Given the description of an element on the screen output the (x, y) to click on. 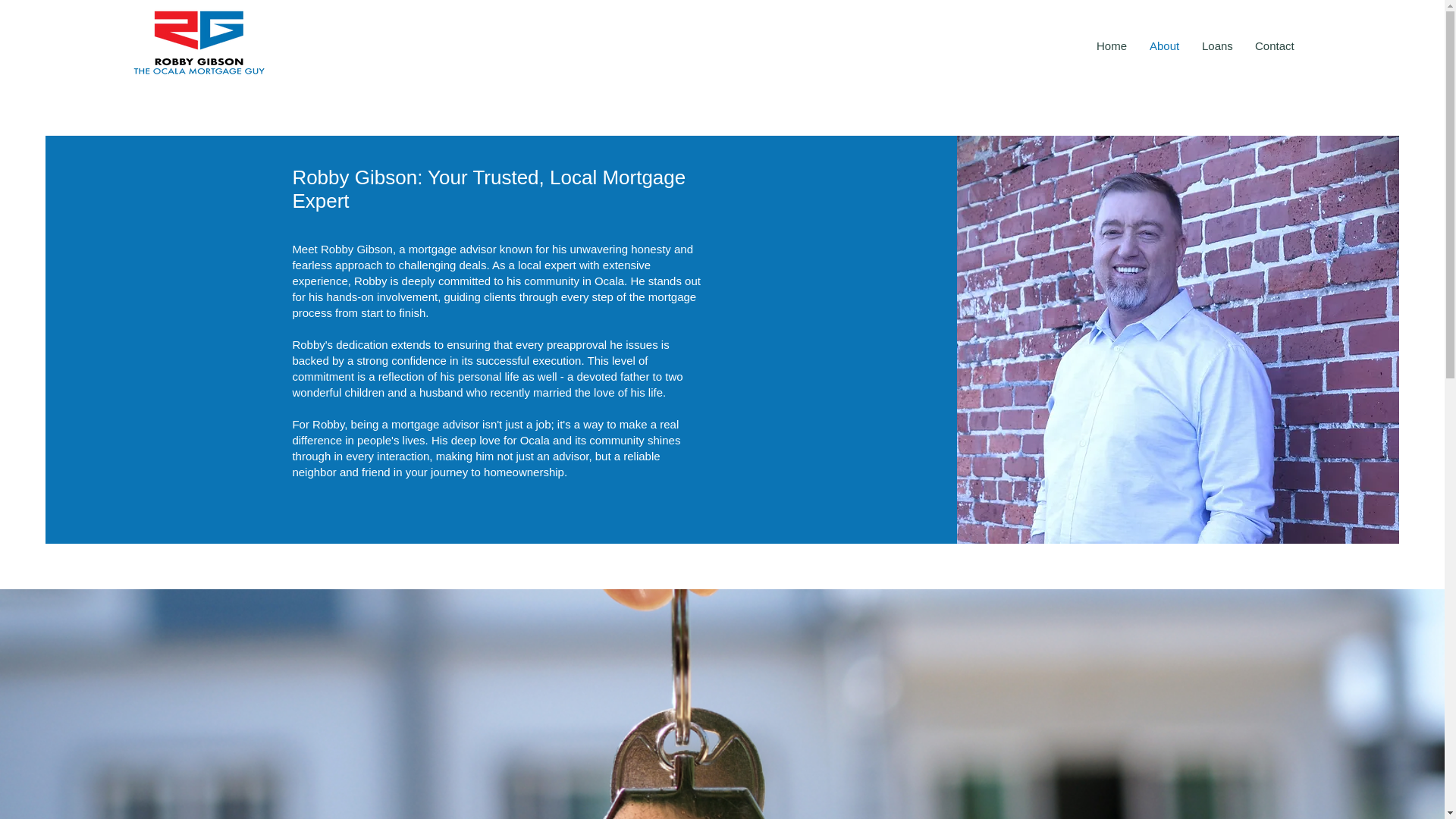
Home (1111, 46)
Loans (1217, 46)
ocalamortgageguy.png (198, 42)
About (1164, 46)
Contact (1273, 46)
